Given the description of an element on the screen output the (x, y) to click on. 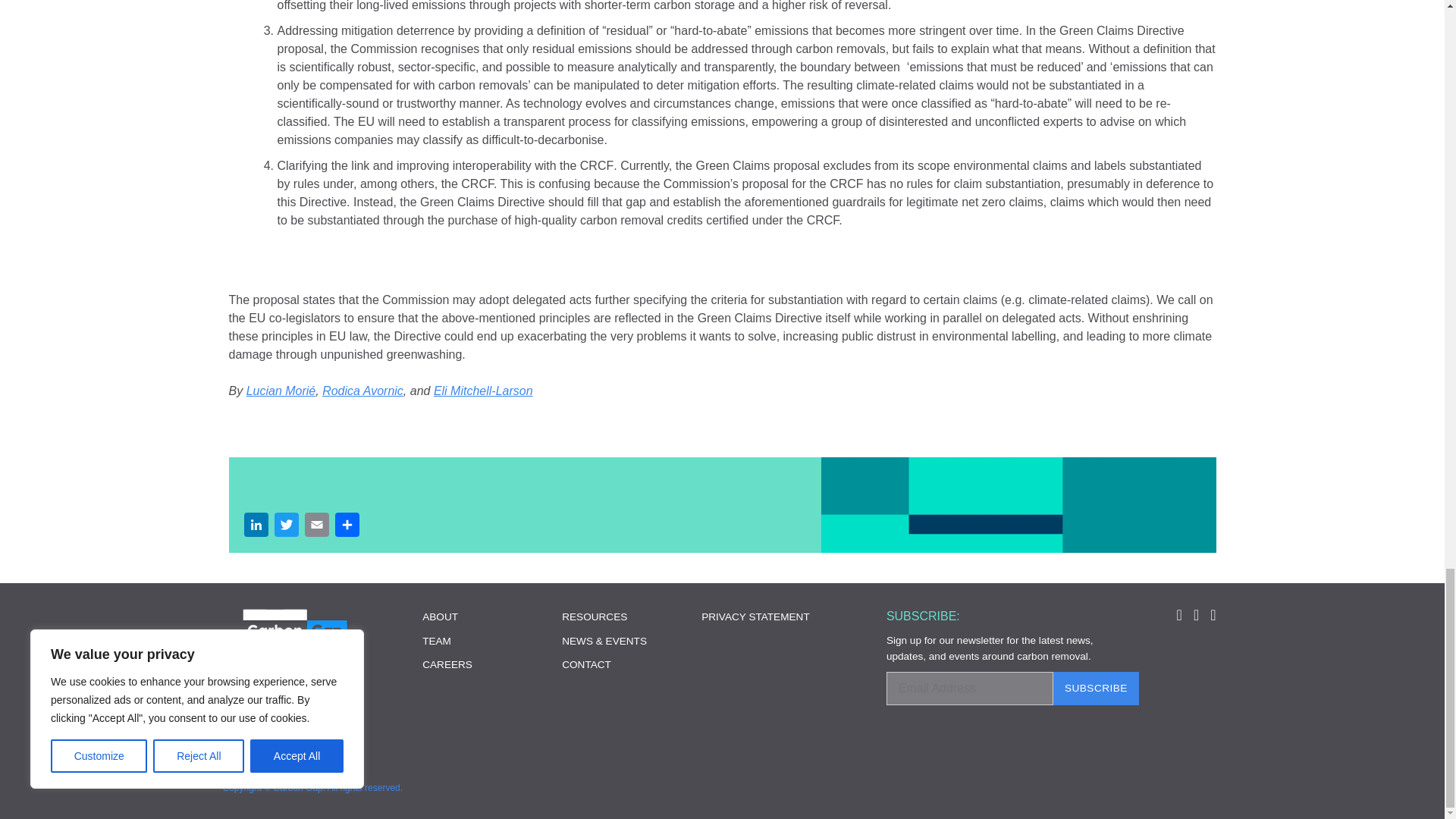
Twitter (285, 526)
Subscribe (1095, 688)
LinkedIn (255, 526)
Email (316, 526)
